Given the description of an element on the screen output the (x, y) to click on. 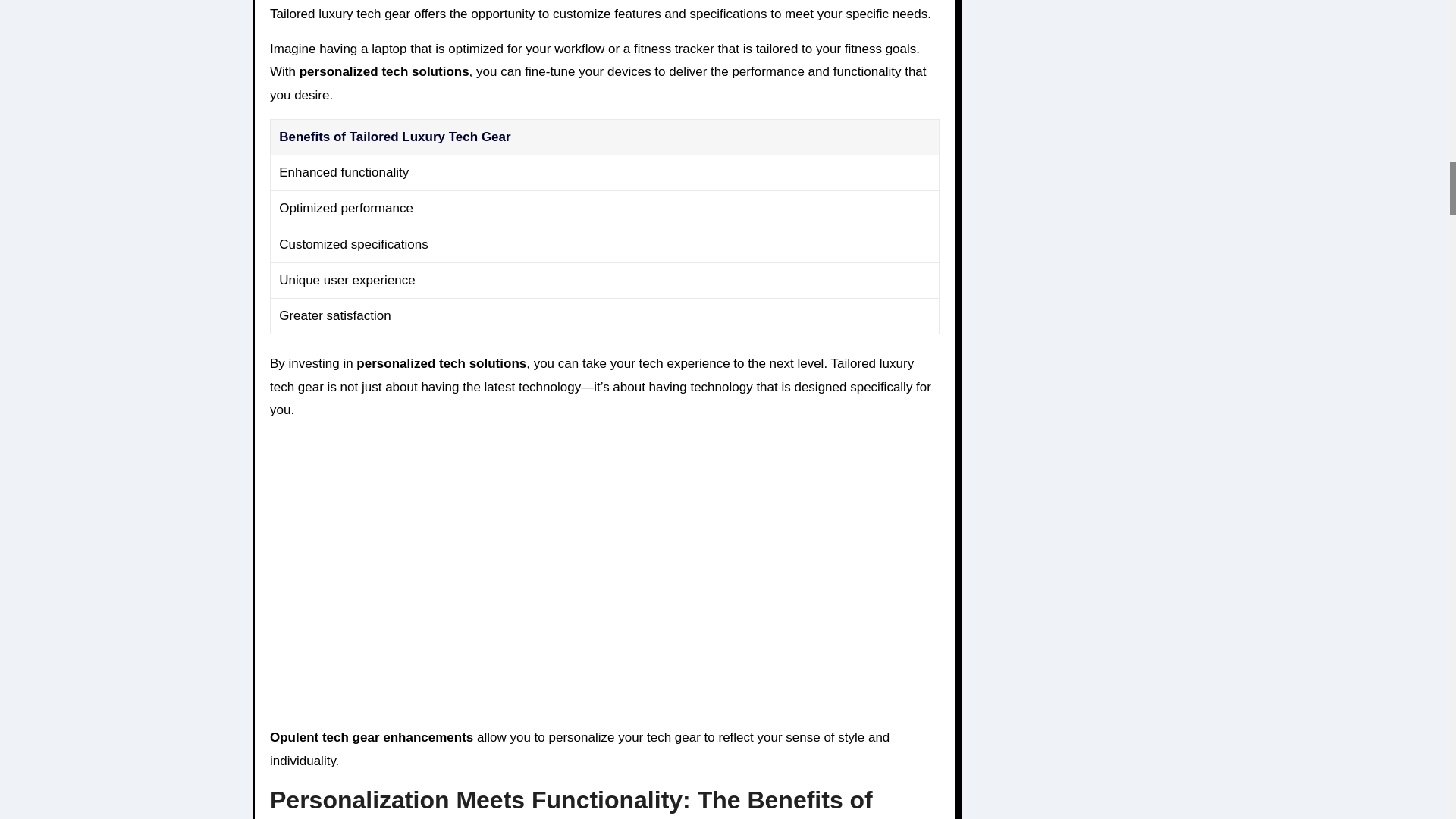
2024 BMW X7 ultra luxury suv (512, 570)
